Given the description of an element on the screen output the (x, y) to click on. 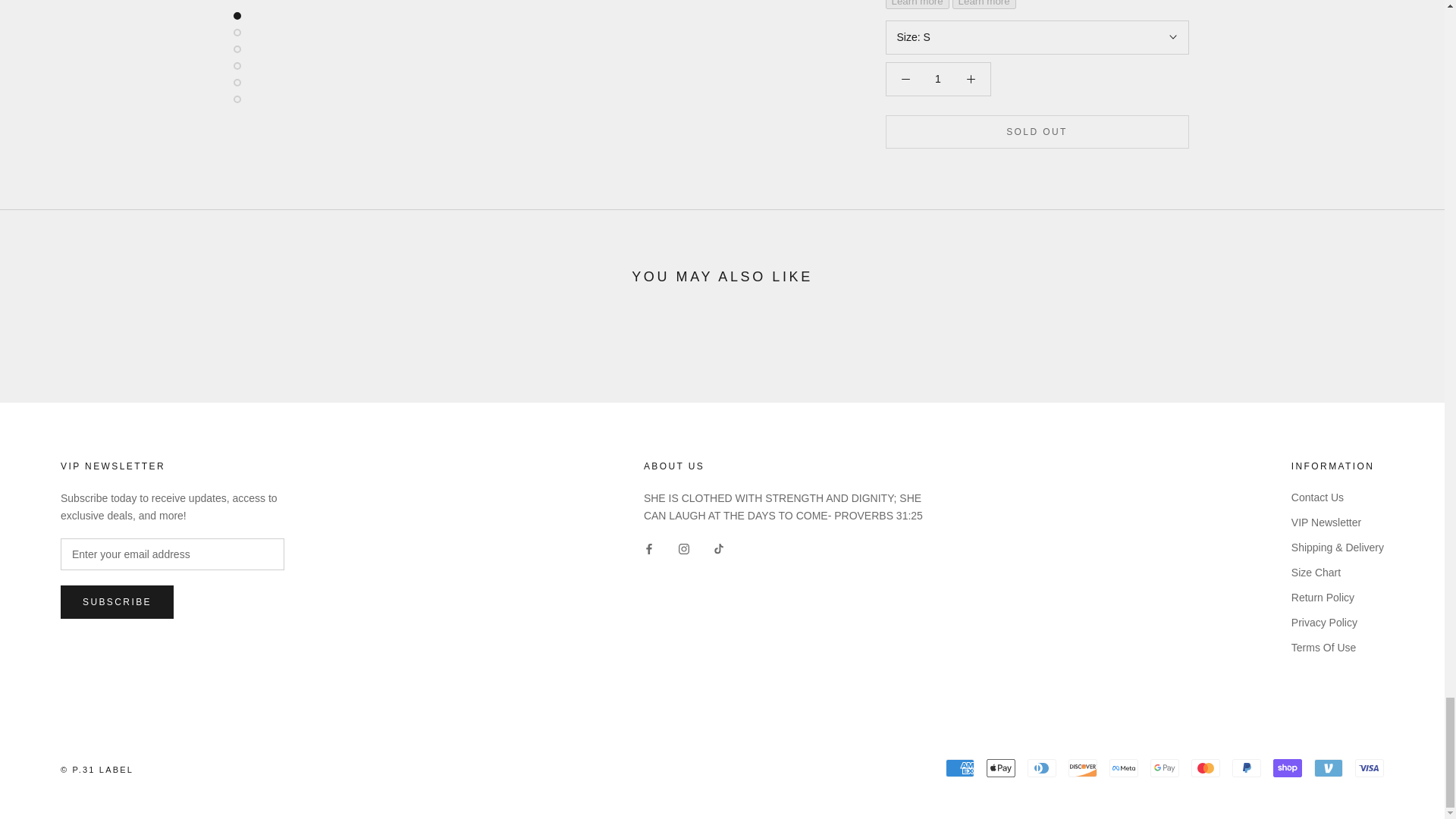
Venmo (1328, 768)
Diners Club (1042, 768)
Shop Pay (1286, 768)
American Express (959, 768)
PayPal (1245, 768)
Discover (1082, 768)
Visa (1369, 768)
Apple Pay (1000, 768)
Mastercard (1205, 768)
Google Pay (1164, 768)
Meta Pay (1123, 768)
